Given the description of an element on the screen output the (x, y) to click on. 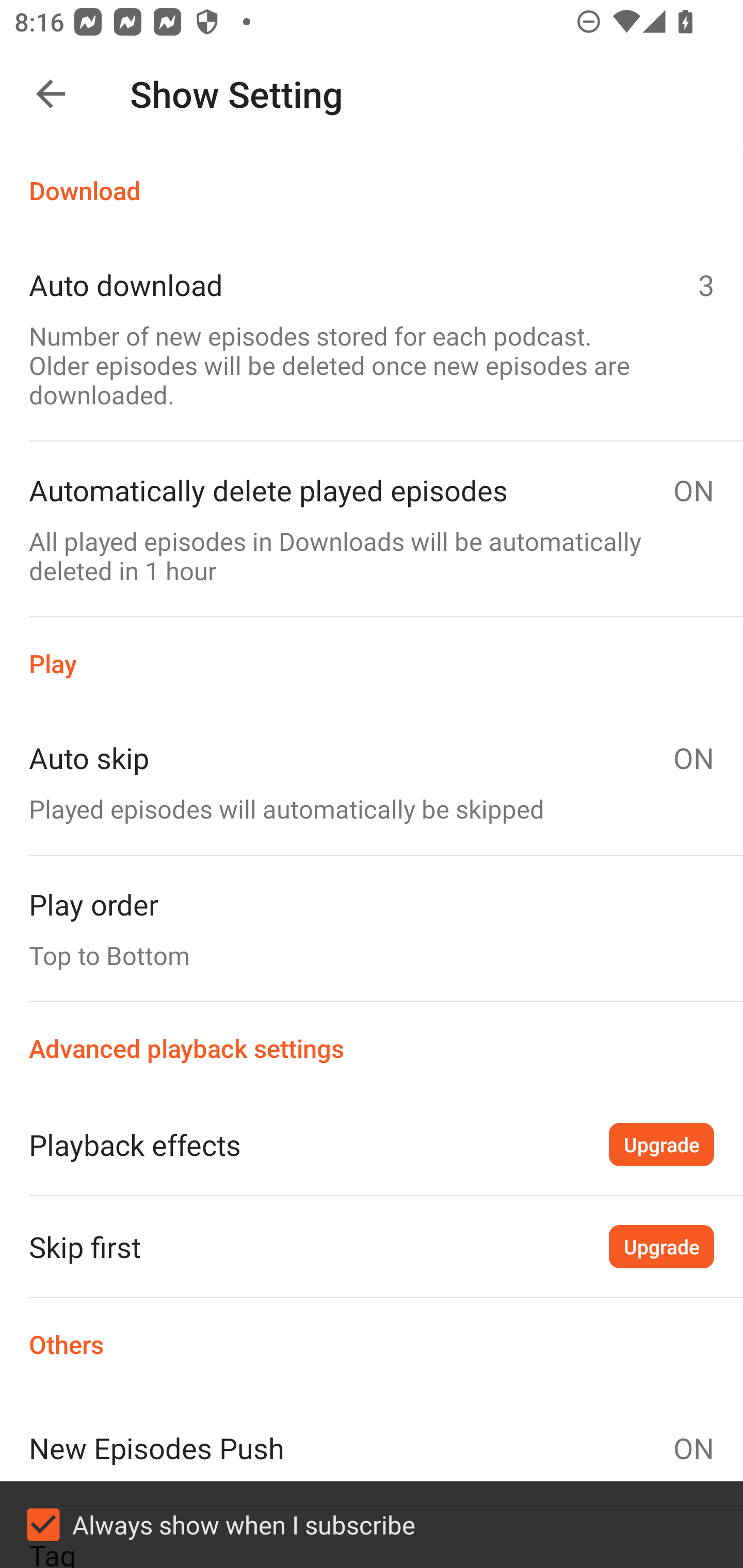
Navigate up (50, 93)
Play order Top to Bottom (371, 928)
Playback effects Upgrade (371, 1144)
Skip first Upgrade (371, 1246)
New Episodes Push ON (371, 1447)
Always show when I subscribe (371, 1524)
